Given the description of an element on the screen output the (x, y) to click on. 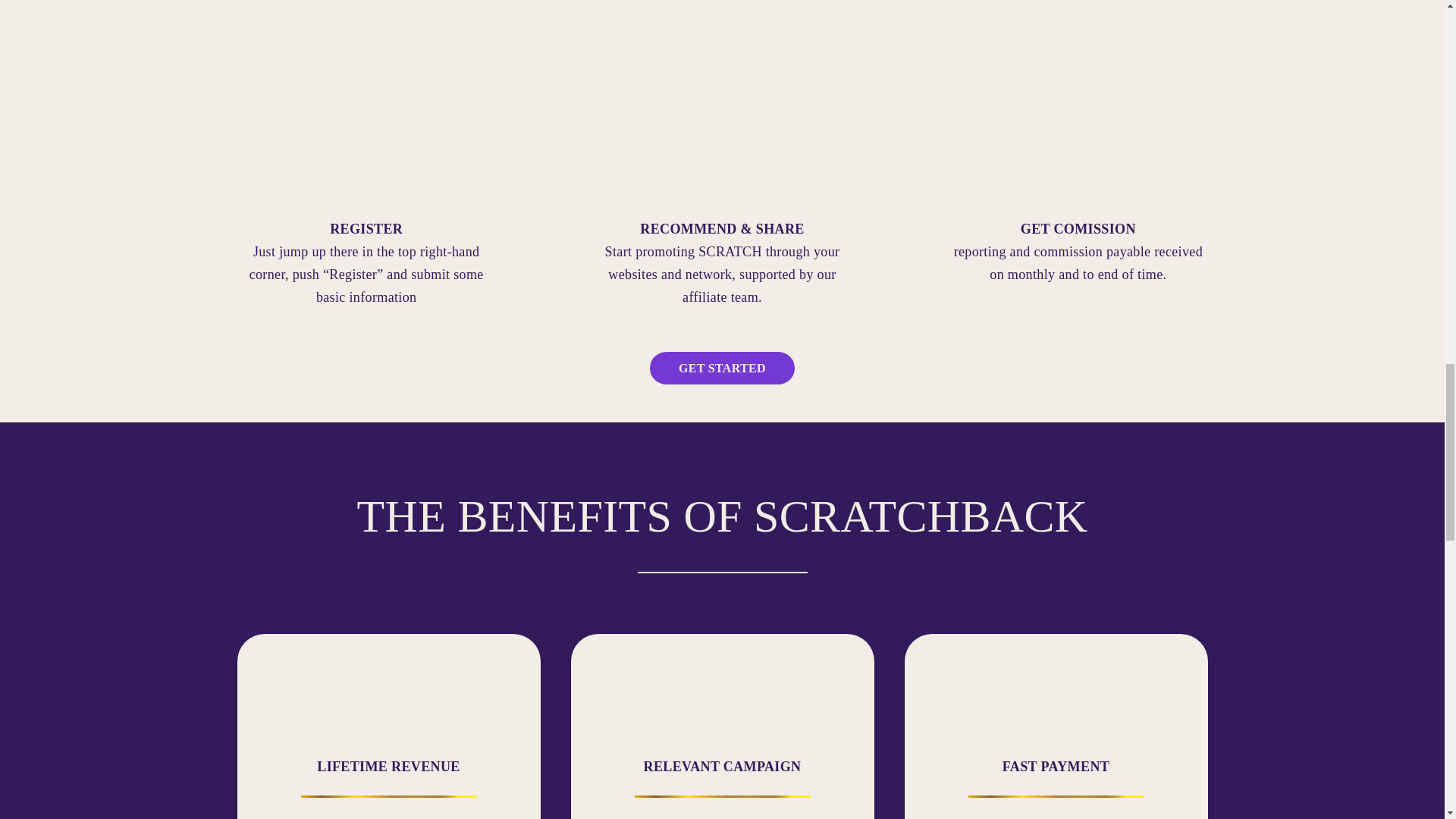
GET STARTED (721, 368)
